Given the description of an element on the screen output the (x, y) to click on. 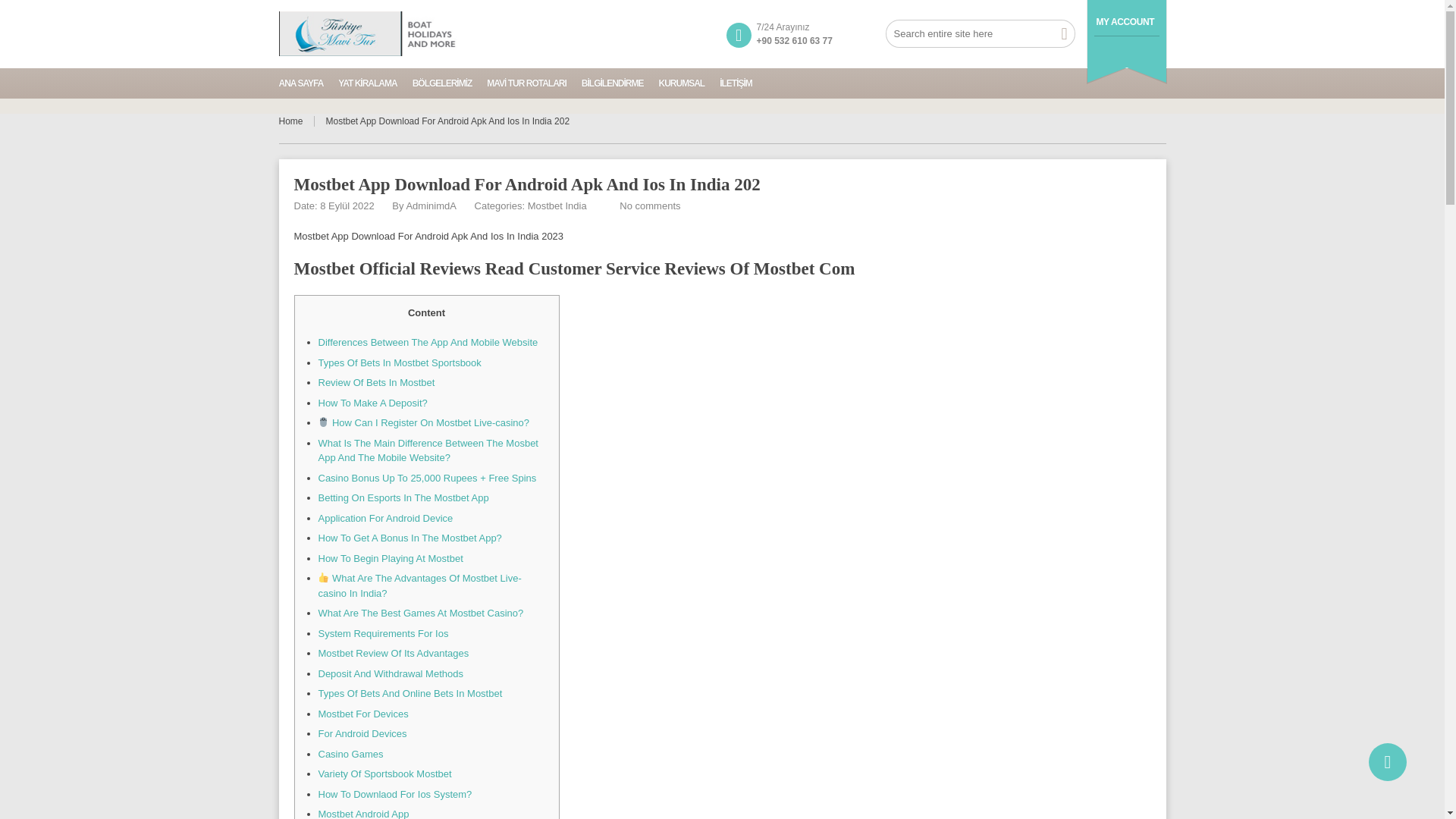
YAT KIRALAMA (366, 82)
AdminimdA (430, 205)
MY ACCOUNT (1125, 21)
My Account (1125, 21)
KURUMSAL (681, 82)
Types Of Bets In Mostbet Sportsbook (399, 362)
Home (296, 120)
No comments (649, 205)
Mostbet India (556, 205)
ANA SAYFA (301, 82)
BILGILENDIRME (611, 82)
Differences Between The App And Mobile Website (428, 342)
